Given the description of an element on the screen output the (x, y) to click on. 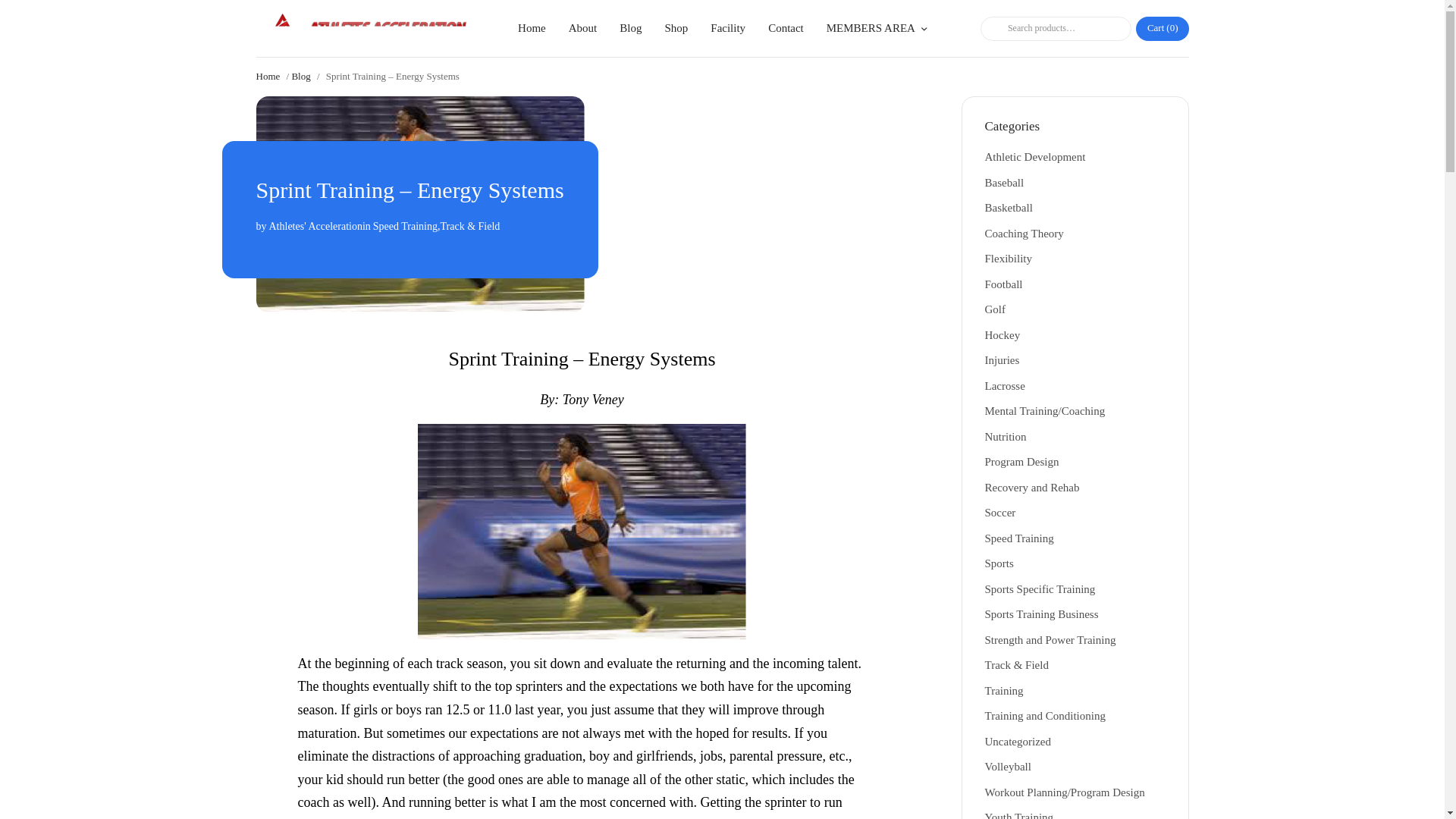
Search (991, 28)
Sports Specific Training (1039, 589)
Sports (998, 563)
Coaching Theory (1023, 233)
Golf (995, 309)
Speed Training (405, 226)
Baseball (1003, 182)
Blog (300, 75)
Football (1003, 284)
Program Design (1021, 461)
